Given the description of an element on the screen output the (x, y) to click on. 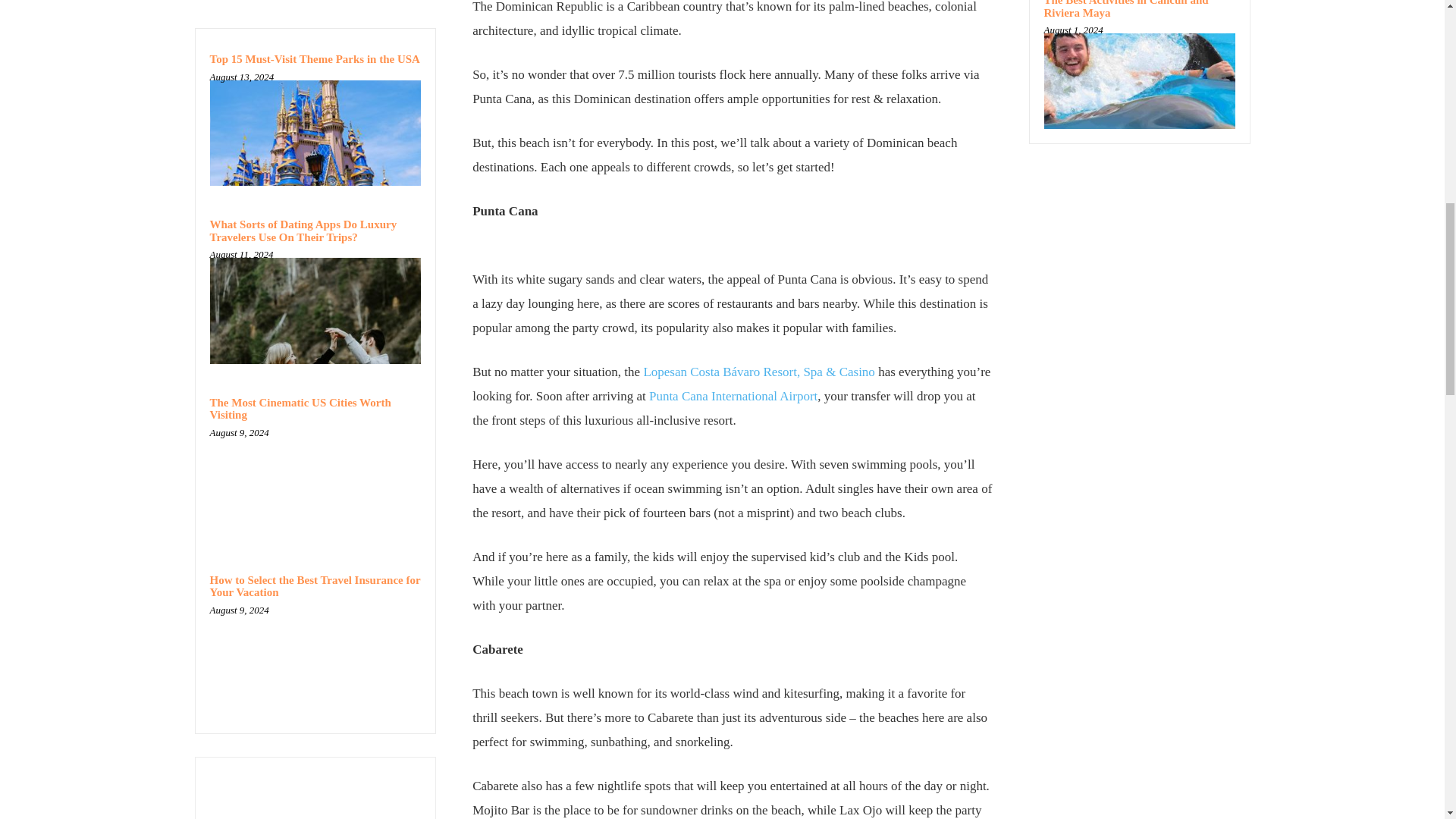
Top 15 Must-Visit Theme Parks in the USA (314, 59)
Top 15 Must-Visit Theme Parks in the USA (314, 132)
The Most Cinematic US Cities Worth Visiting (299, 408)
Top 15 Must-Visit Theme Parks in the USA (314, 59)
